Given the description of an element on the screen output the (x, y) to click on. 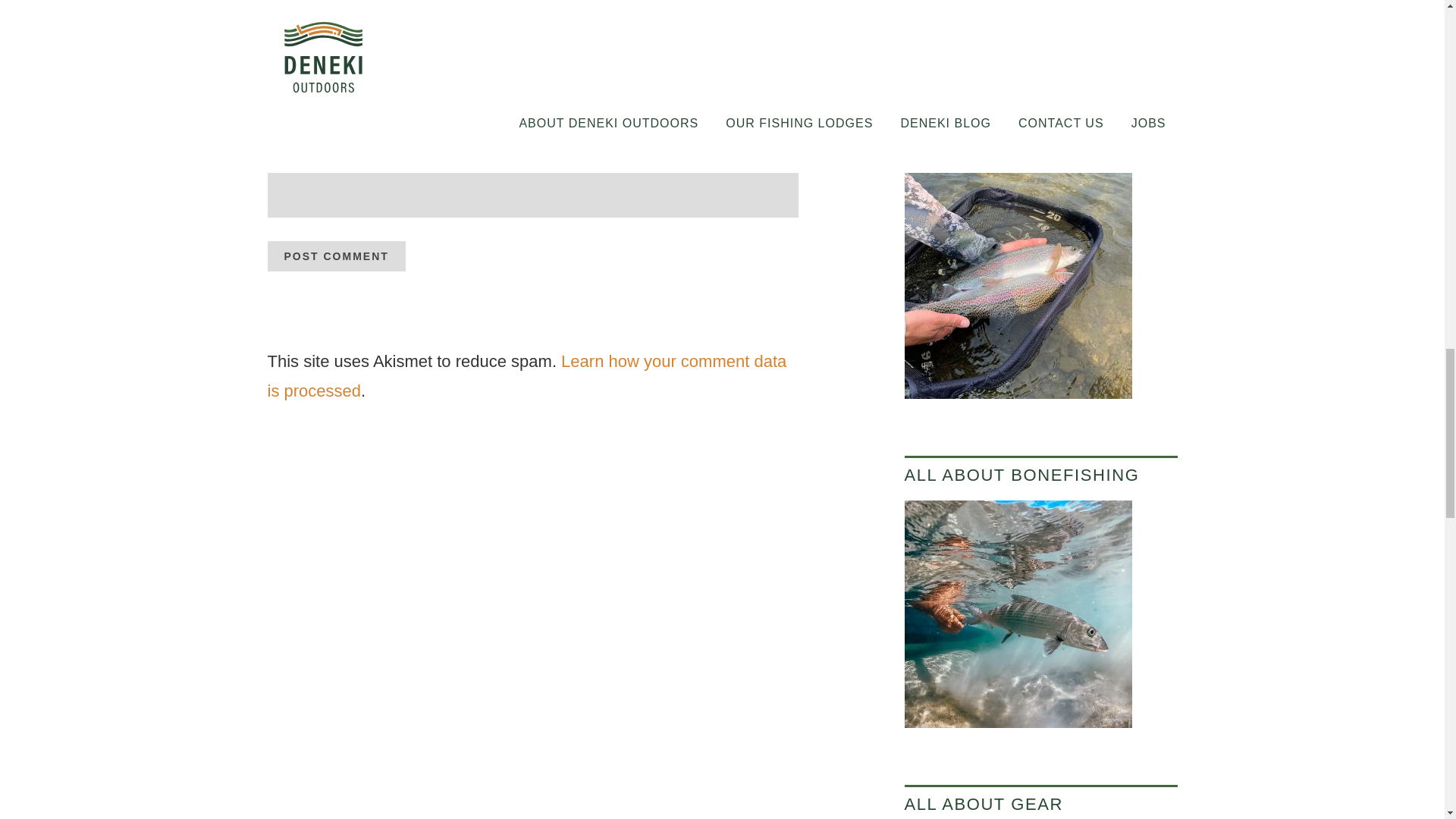
Learn how your comment data is processed (526, 376)
Post Comment (335, 255)
Post Comment (335, 255)
